Given the description of an element on the screen output the (x, y) to click on. 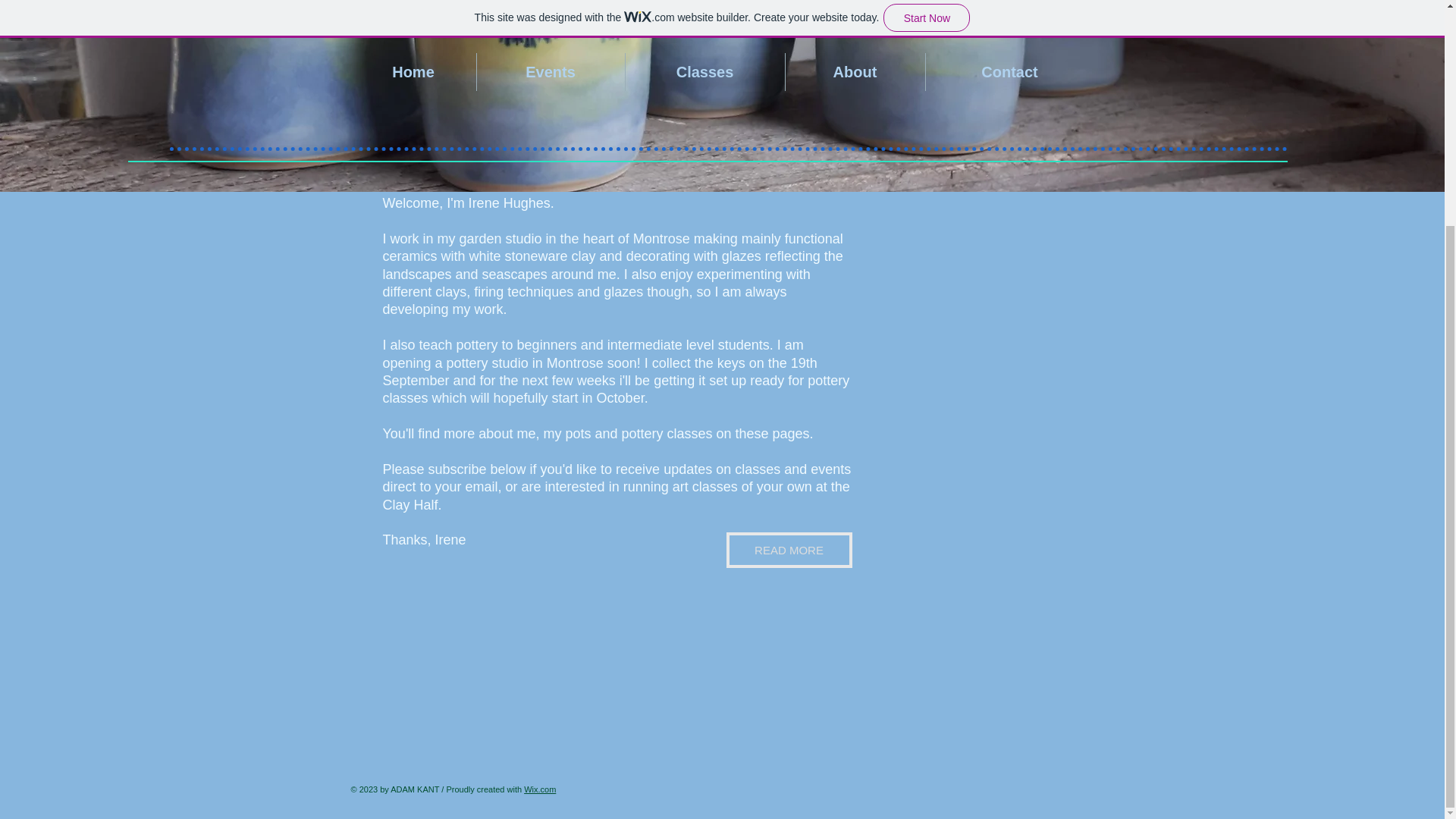
READ MORE (788, 550)
Wix.com (540, 788)
